Given the description of an element on the screen output the (x, y) to click on. 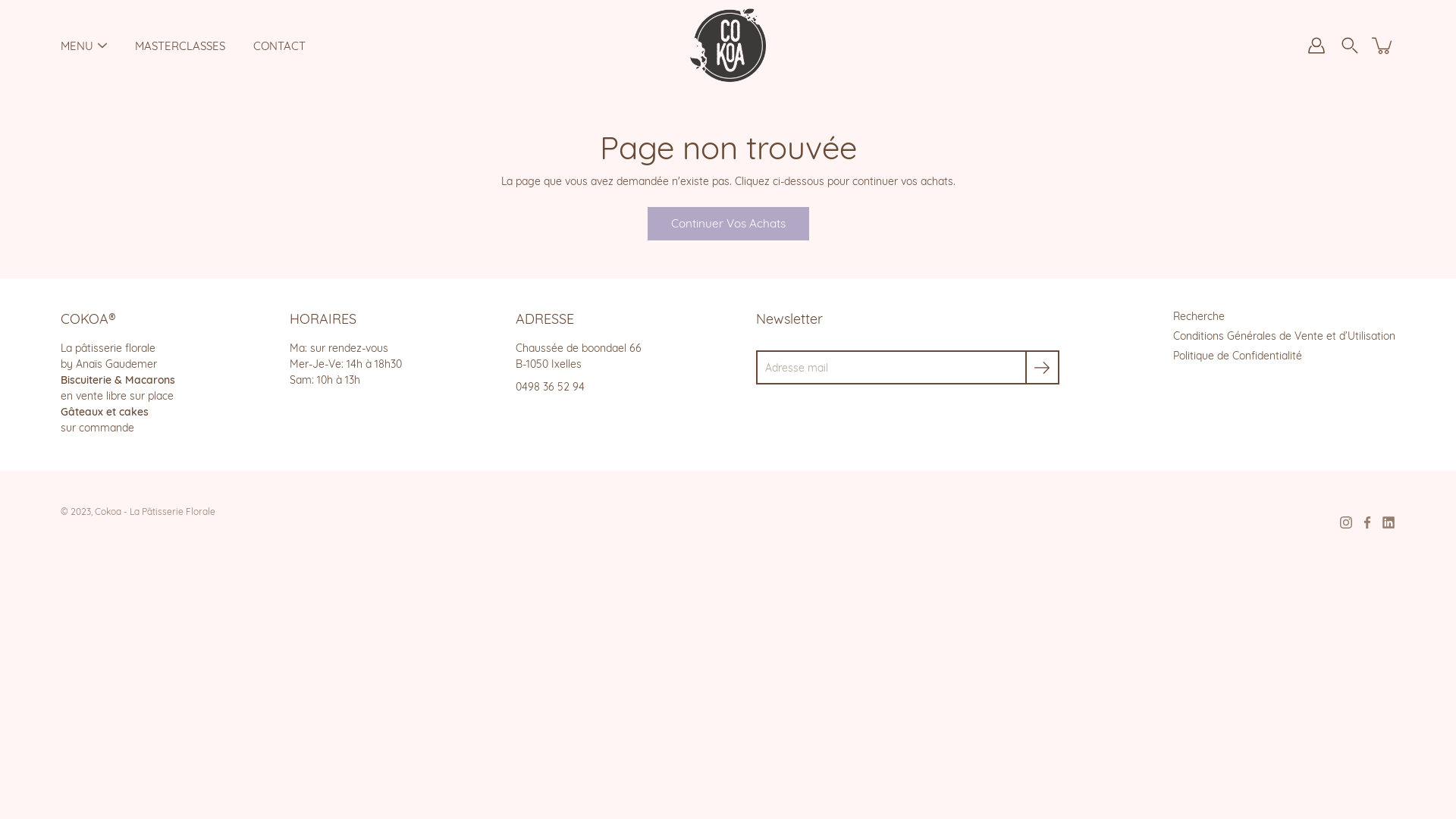
Recherche Element type: text (1198, 316)
MASTERCLASSES Element type: text (179, 45)
Facebook Element type: text (1367, 522)
Instagram Element type: text (1345, 522)
LinkedIn Element type: text (1388, 522)
Continuer Vos Achats Element type: text (728, 223)
MENU Element type: text (76, 45)
CONTACT Element type: text (279, 45)
